Given the description of an element on the screen output the (x, y) to click on. 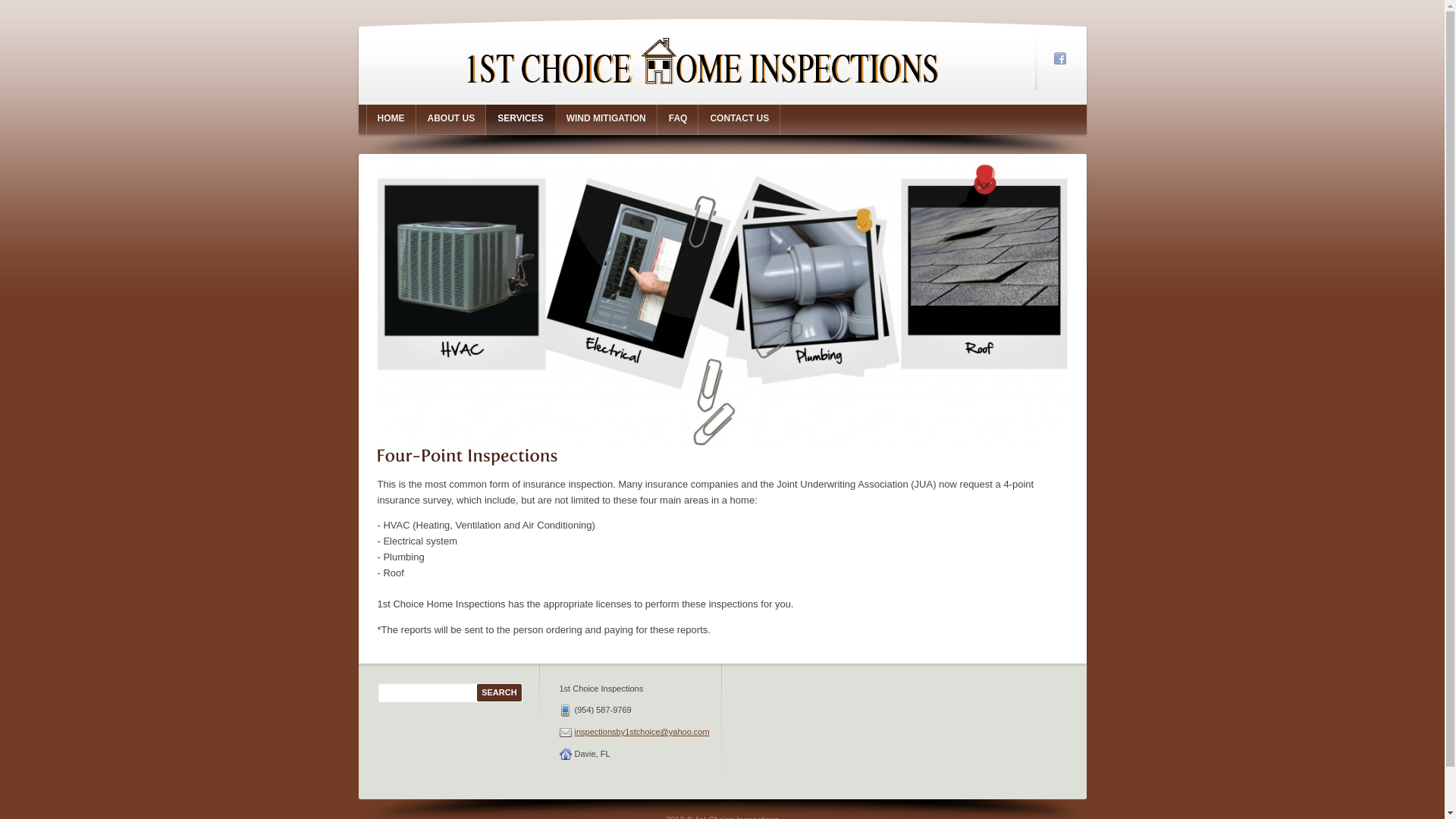
CONTACT US Element type: text (739, 119)
All-4 Element type: hover (722, 303)
FAQ Element type: text (678, 119)
Search Element type: text (498, 692)
SERVICES Element type: text (520, 119)
inspectionsby1stchoice@yahoo.com Element type: text (641, 731)
WIND MITIGATION Element type: text (606, 119)
HOME Element type: text (390, 119)
ABOUT US Element type: text (450, 119)
facebook Element type: hover (1060, 58)
